Given the description of an element on the screen output the (x, y) to click on. 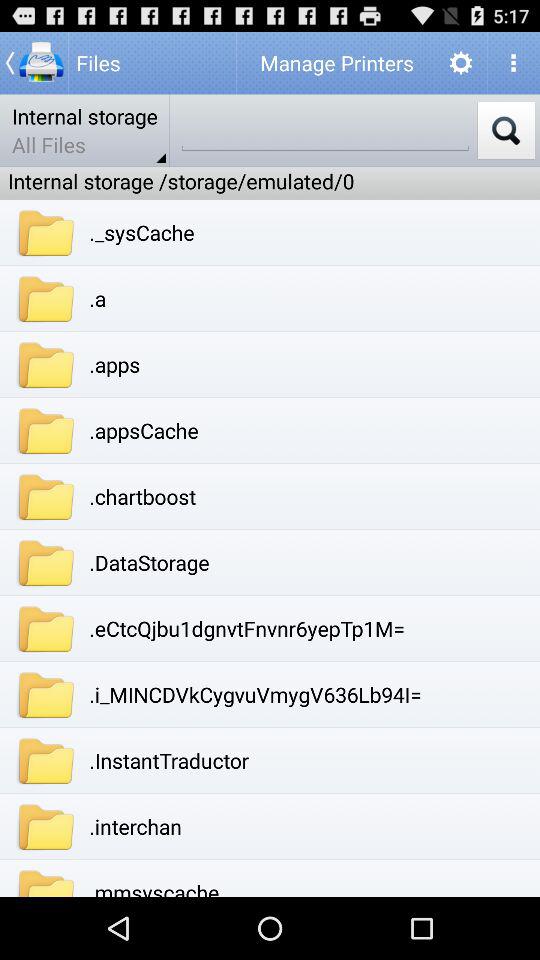
search (505, 130)
